Given the description of an element on the screen output the (x, y) to click on. 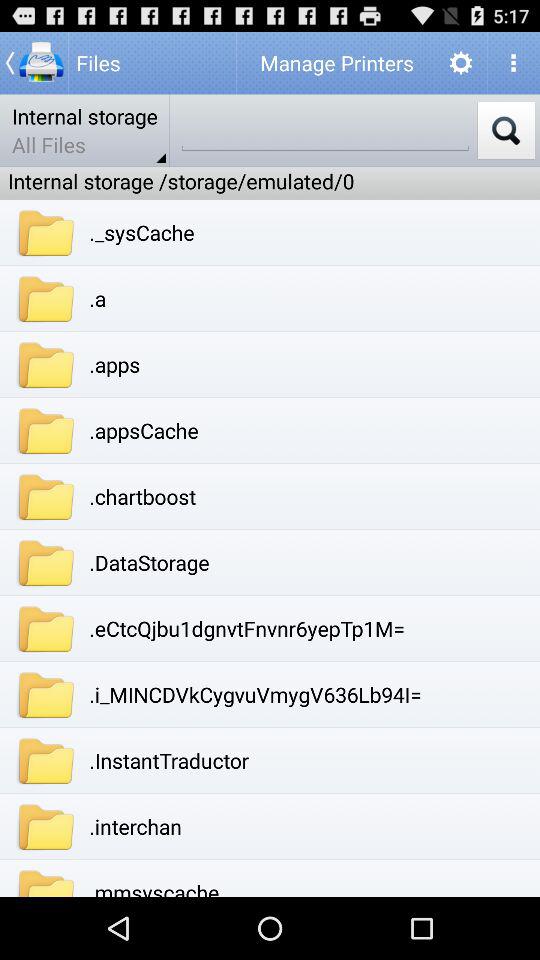
search (505, 130)
